Given the description of an element on the screen output the (x, y) to click on. 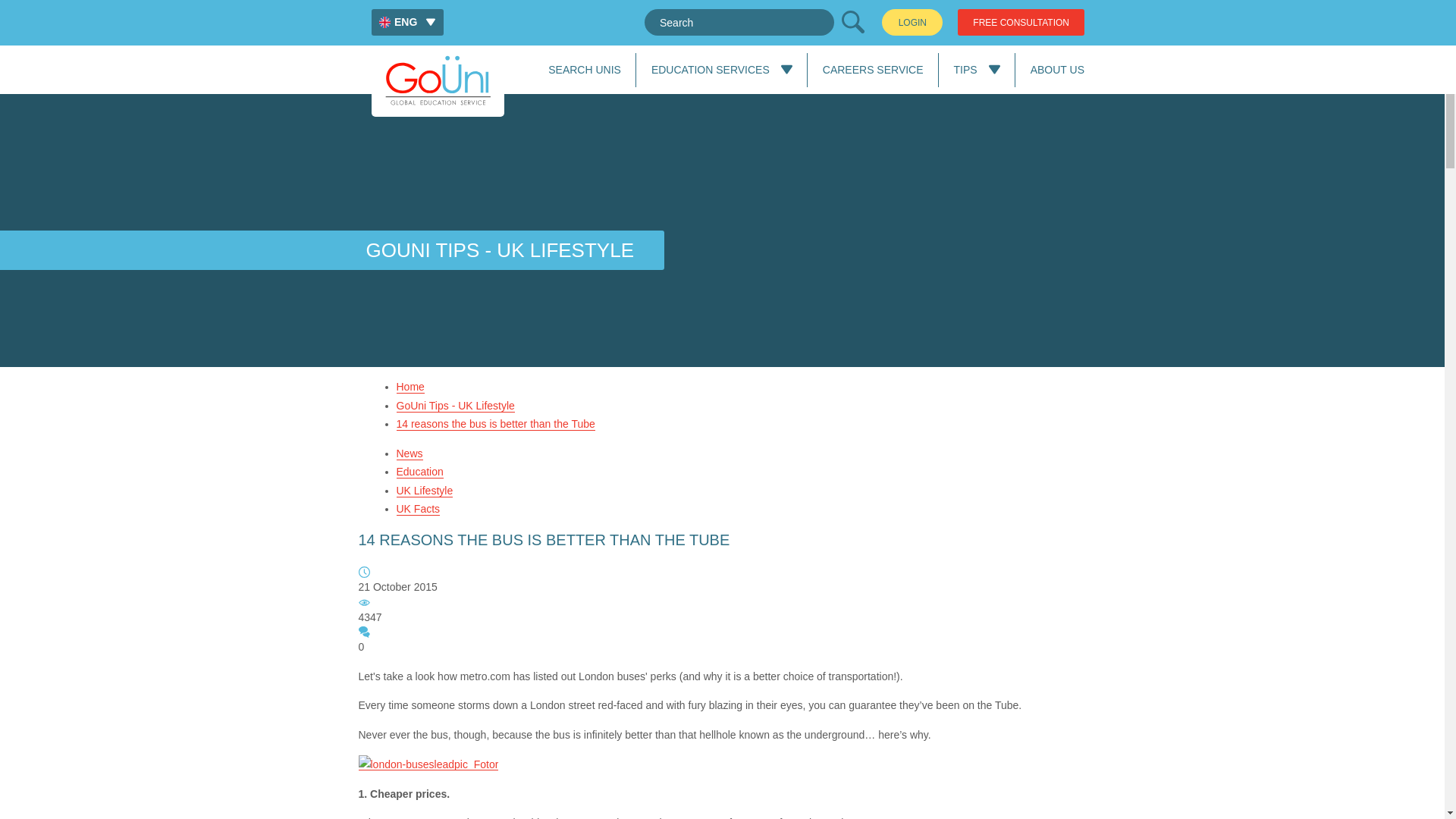
LOGIN (912, 22)
About Us (1057, 69)
Free Consultation (1021, 22)
ENG (407, 22)
EDUCATION SERVICES (710, 69)
GoUni Homepage (437, 79)
Home (409, 386)
ABOUT US (1057, 69)
Services (710, 69)
UK Facts (417, 508)
GoUni Tips - UK Lifestyle (454, 404)
UK Lifestyle (424, 490)
TIPS (964, 69)
Education (419, 472)
FREE CONSULTATION (1021, 22)
